Given the description of an element on the screen output the (x, y) to click on. 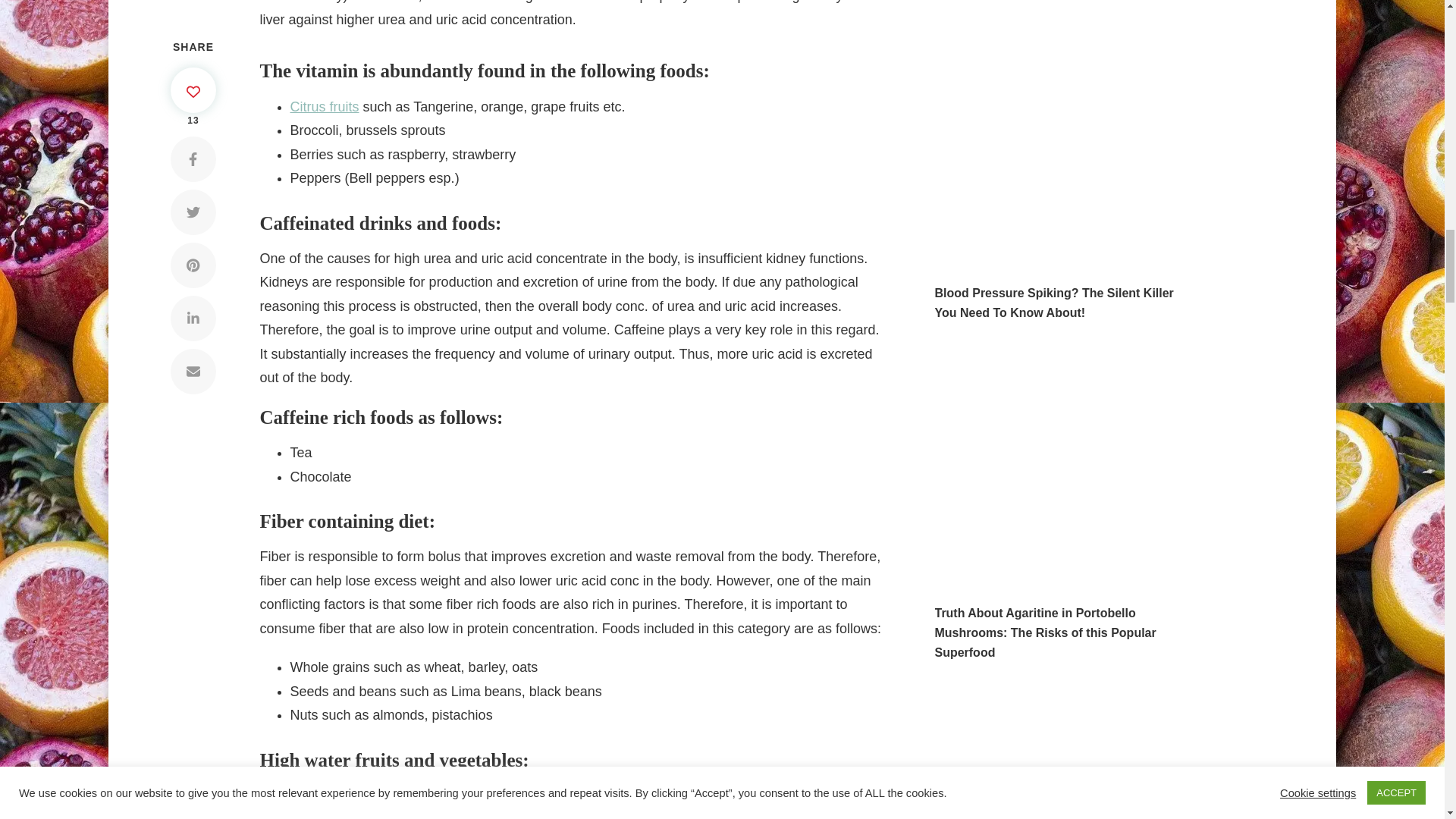
Citrus fruits (323, 106)
